Given the description of an element on the screen output the (x, y) to click on. 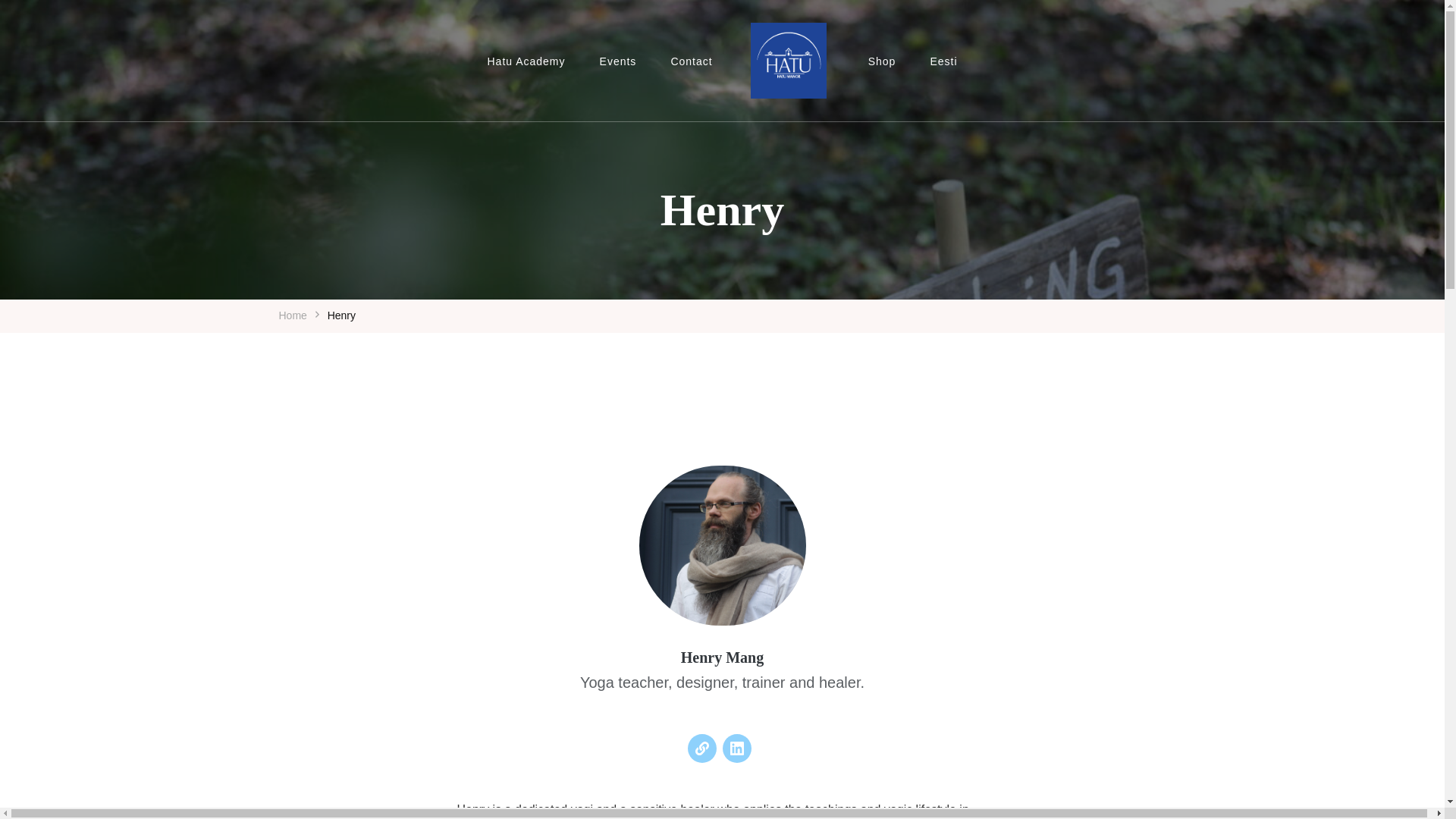
Events (618, 61)
Hatu Academy (525, 61)
Henry (341, 315)
Shop (882, 61)
Home (293, 315)
Hatu Manor (811, 116)
Eesti (943, 61)
Contact (690, 61)
